Given the description of an element on the screen output the (x, y) to click on. 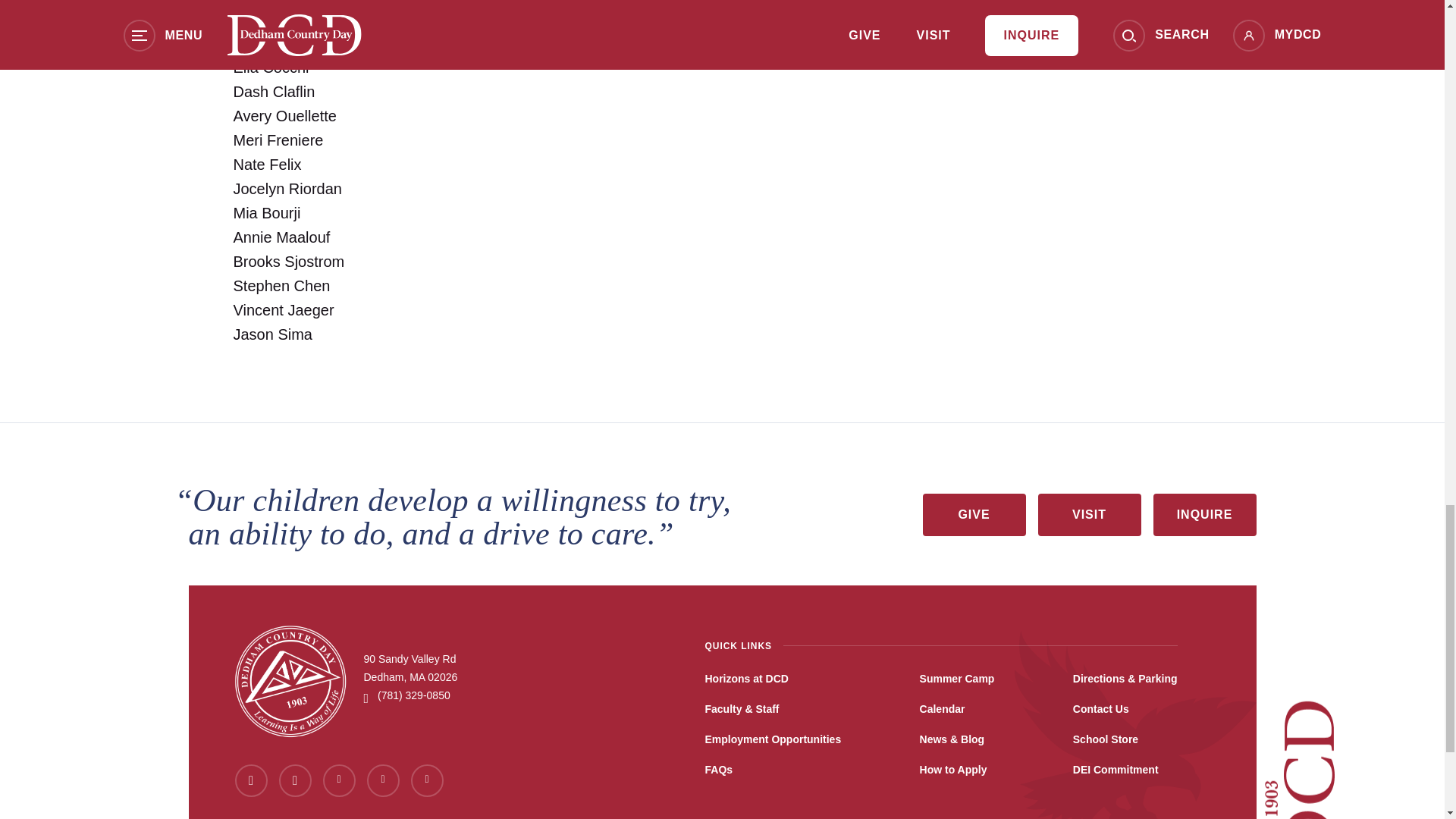
LinkedIn (339, 780)
Facebook (250, 780)
Instagram (382, 780)
Twitter (295, 780)
Vimeo (427, 780)
